Given the description of an element on the screen output the (x, y) to click on. 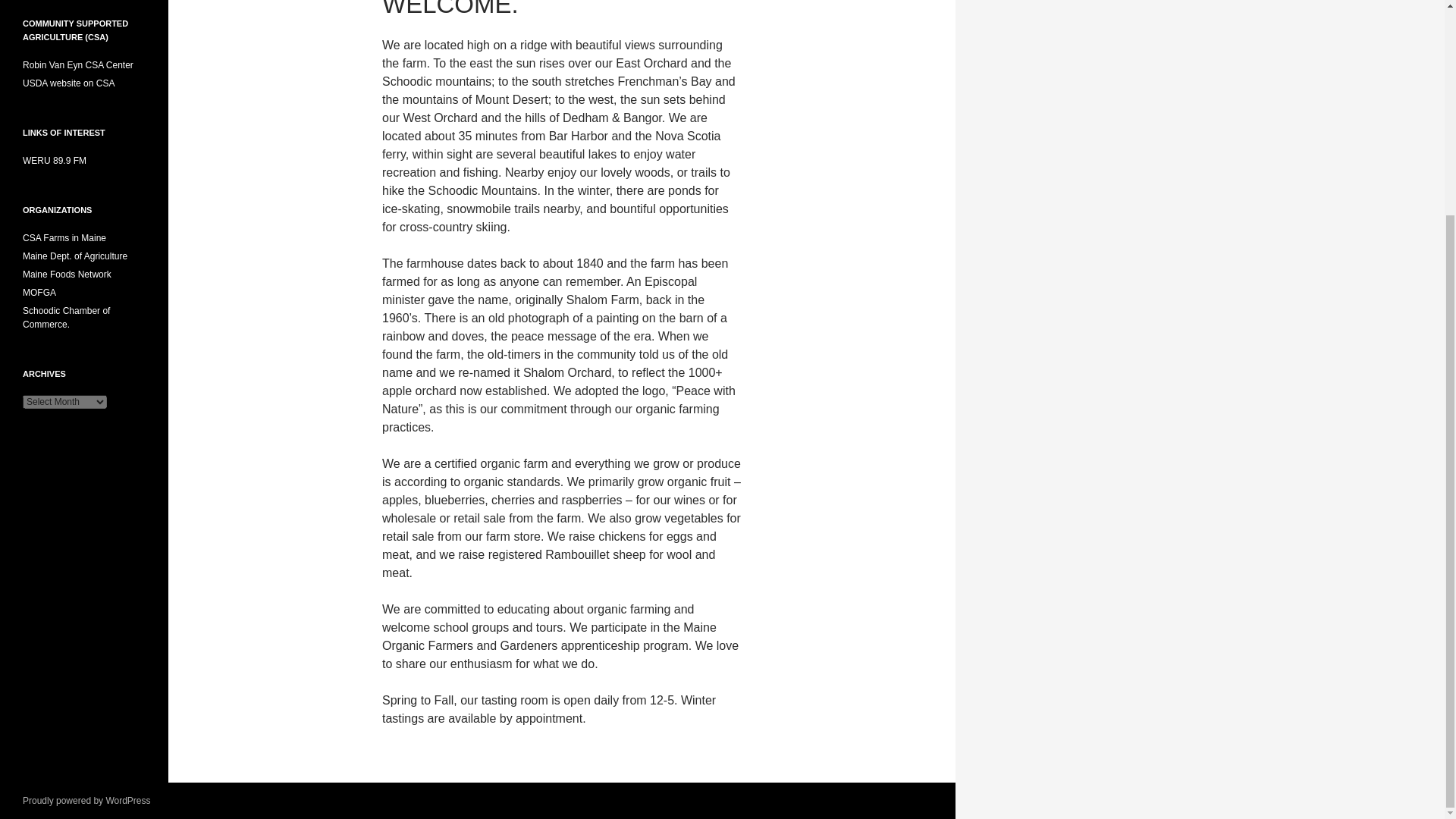
Fresh From Field To Fork (67, 274)
CSA Farms in Maine (64, 237)
Robin Van Eyn CSA Center (78, 64)
Proudly powered by WordPress (87, 800)
MOFGA (39, 292)
Schoodic Chamber of Commerce. (66, 317)
USDA website on CSA (69, 82)
WERU 89.9 FM (54, 160)
Maine Dept. of Agriculture (75, 255)
Get Real. Get Maine. (75, 255)
Maine Organic Farmers and Gardeners Association (39, 292)
Maine Foods Network (67, 274)
